Given the description of an element on the screen output the (x, y) to click on. 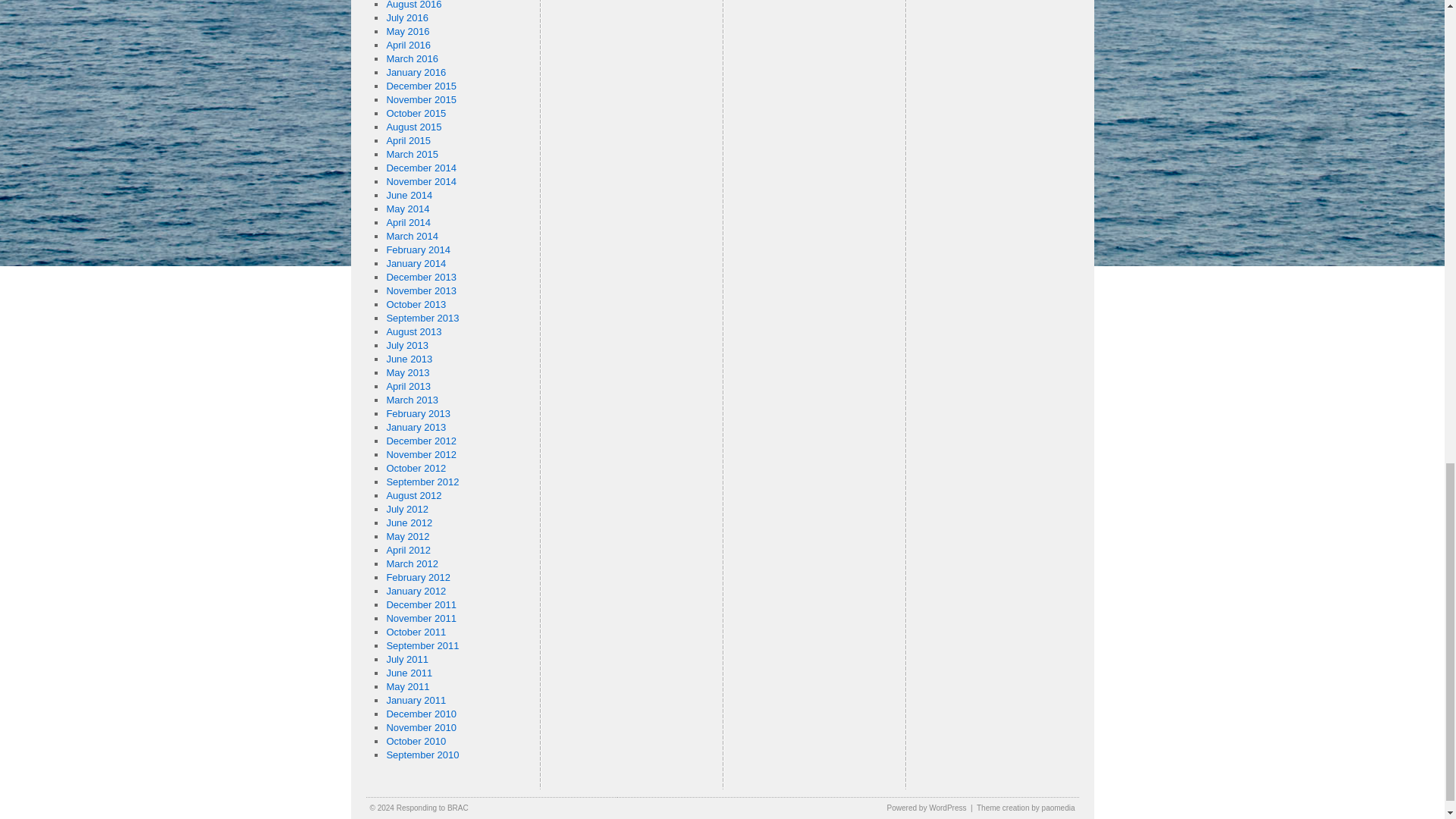
Responding to BRAC (432, 807)
